Given the description of an element on the screen output the (x, y) to click on. 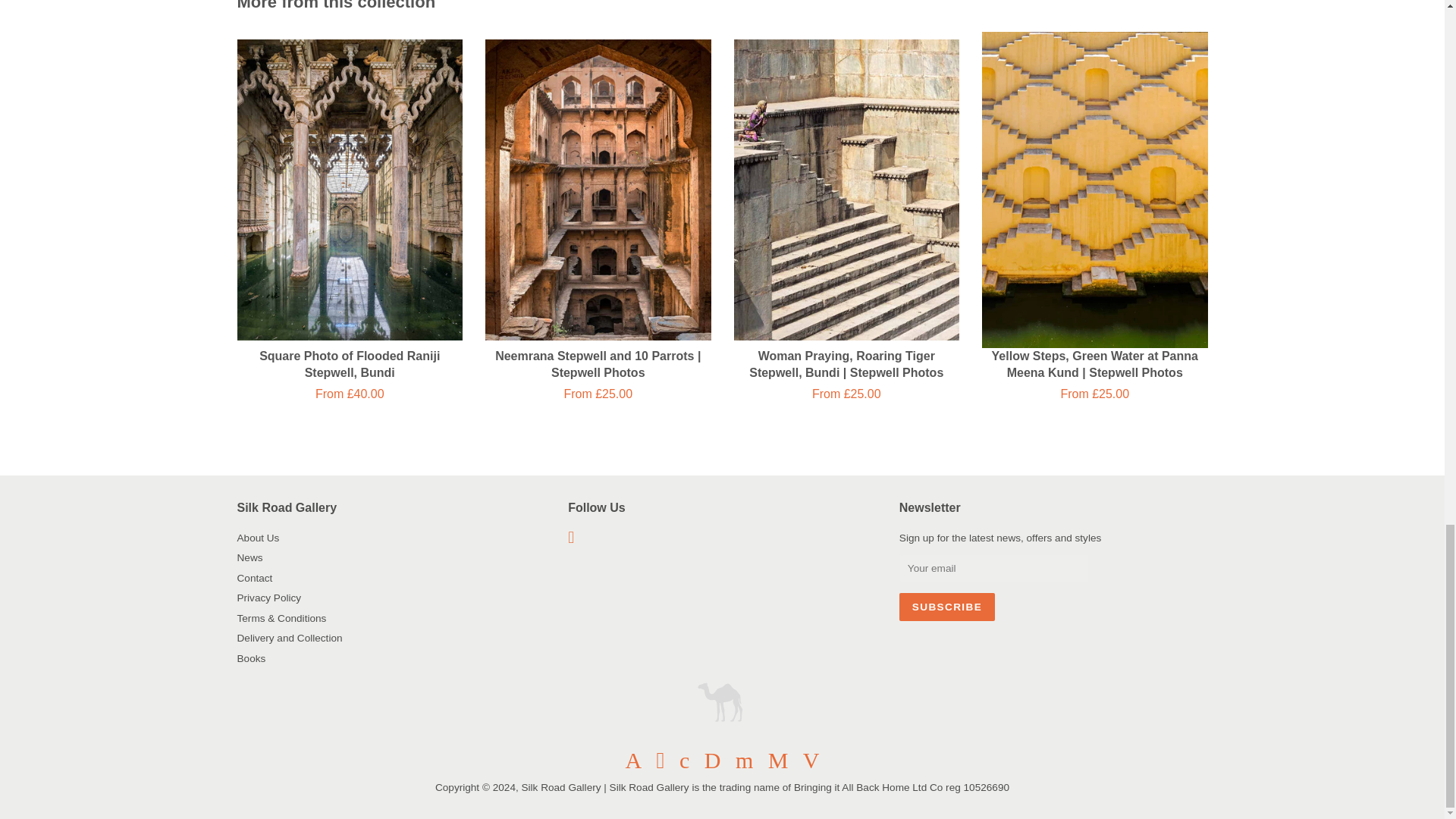
Camel Icon Grey (721, 699)
Subscribe (946, 606)
